Given the description of an element on the screen output the (x, y) to click on. 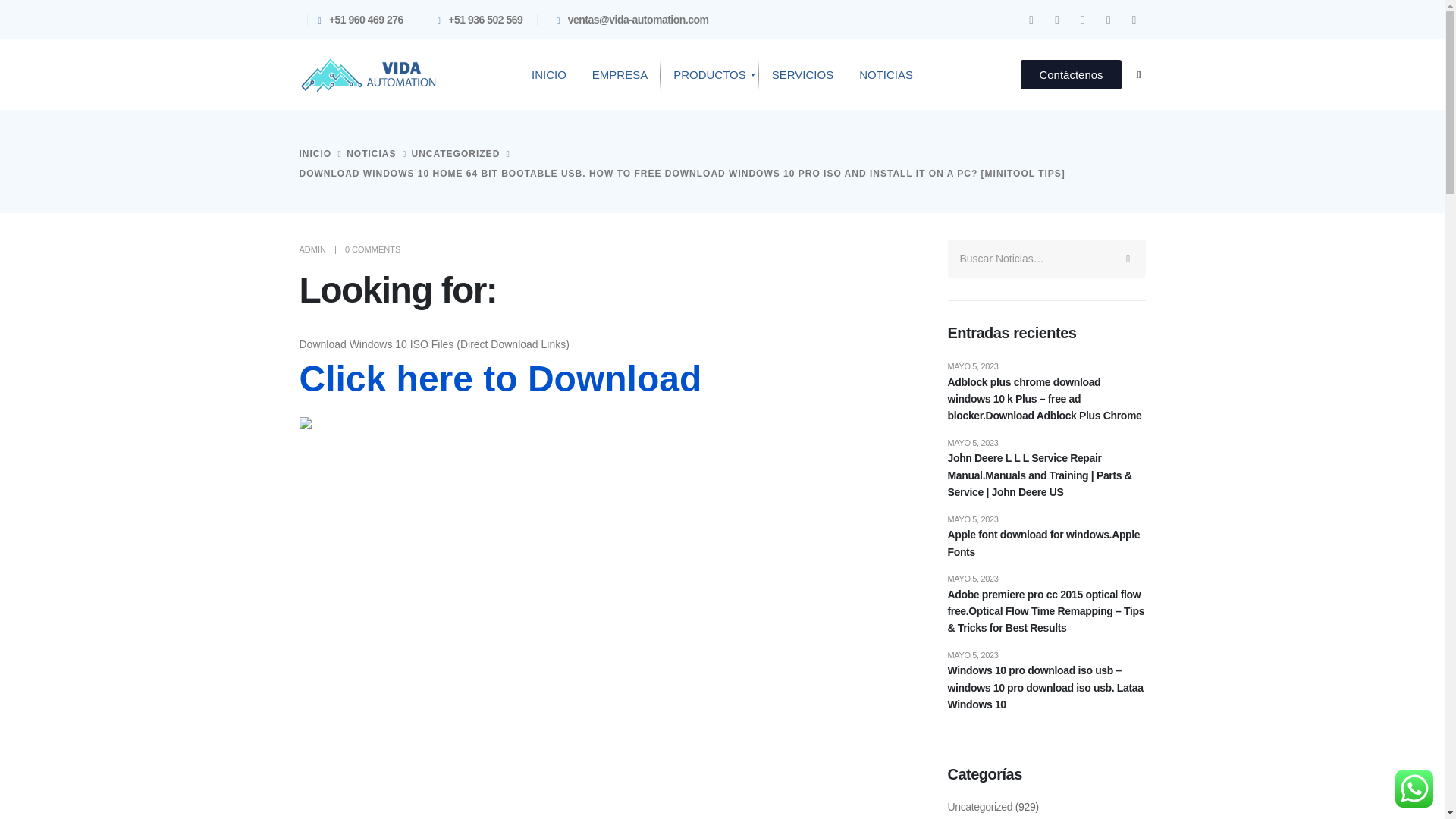
Entradas de admin (311, 248)
Youtube (1108, 19)
EMPRESA (620, 75)
Skype (1134, 19)
Facebook (1082, 19)
Instagram (1056, 19)
LinkedIn (1031, 19)
INICIO (548, 75)
0 COMMENTS (372, 248)
